Given the description of an element on the screen output the (x, y) to click on. 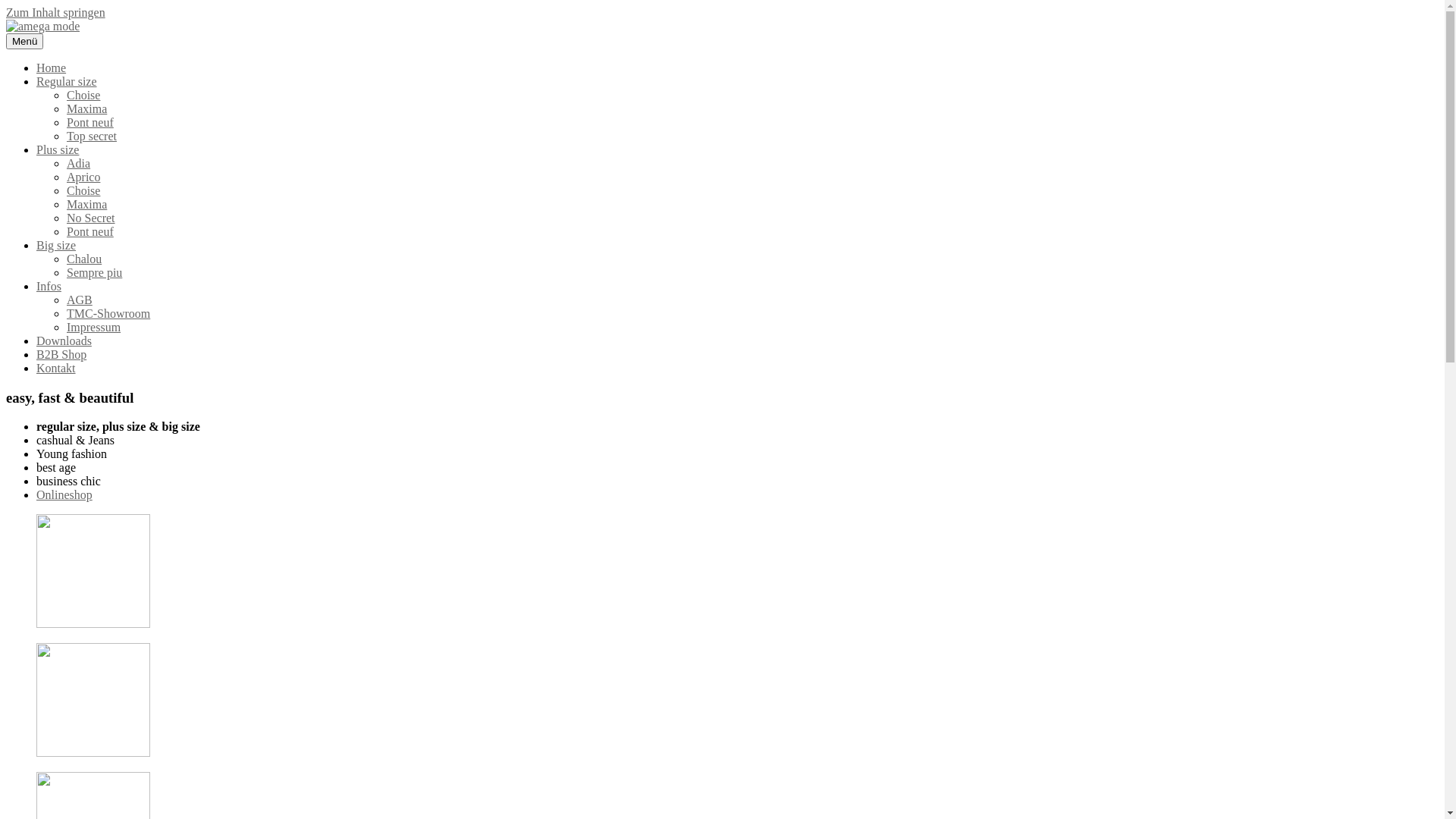
Pont neuf Element type: text (89, 231)
AGB Element type: text (79, 299)
Chalou Element type: text (83, 258)
Adia Element type: text (78, 162)
Downloads Element type: text (63, 340)
Choise Element type: text (83, 94)
Maxima Element type: text (86, 203)
Top secret Element type: text (91, 135)
Home Element type: text (50, 67)
Kontakt Element type: text (55, 367)
amega ag Element type: text (29, 51)
Regular size Element type: text (66, 81)
B2B Shop Element type: text (61, 354)
Impressum Element type: text (93, 326)
Pont neuf Element type: text (89, 122)
Choise Element type: text (83, 190)
Big size Element type: text (55, 244)
Aprico Element type: text (83, 176)
Onlineshop Element type: text (64, 494)
Plus size Element type: text (57, 149)
No Secret Element type: text (90, 217)
TMC-Showroom Element type: text (108, 313)
Sempre piu Element type: text (94, 272)
Zum Inhalt springen Element type: text (55, 12)
Infos Element type: text (48, 285)
Maxima Element type: text (86, 108)
